Given the description of an element on the screen output the (x, y) to click on. 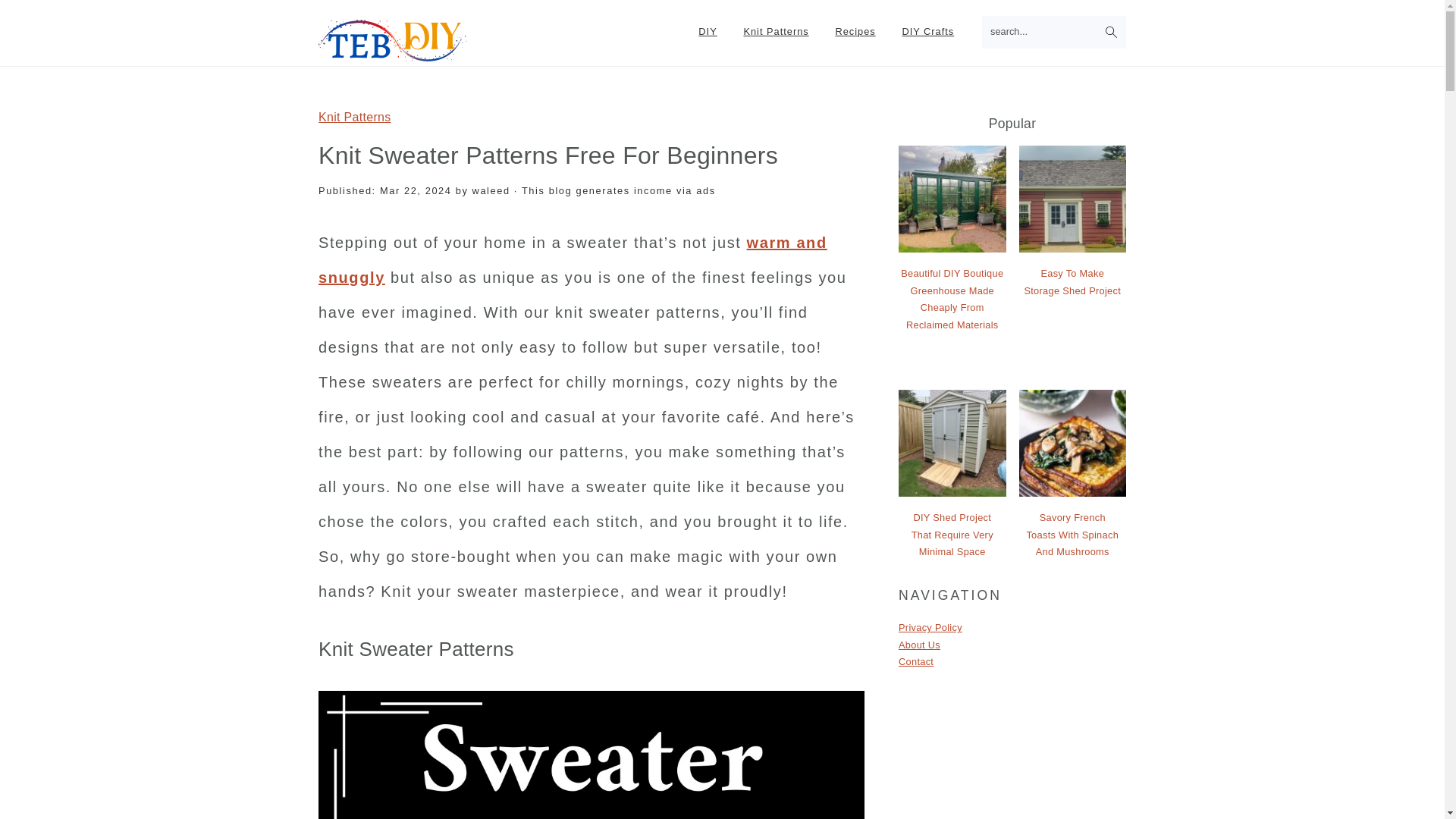
Teb DIY (399, 40)
Contact (915, 661)
warm and snuggly (572, 259)
Knit Patterns (775, 32)
Privacy Policy (930, 627)
Recipes (855, 32)
DIY Crafts (927, 32)
Teb DIY (399, 52)
